Given the description of an element on the screen output the (x, y) to click on. 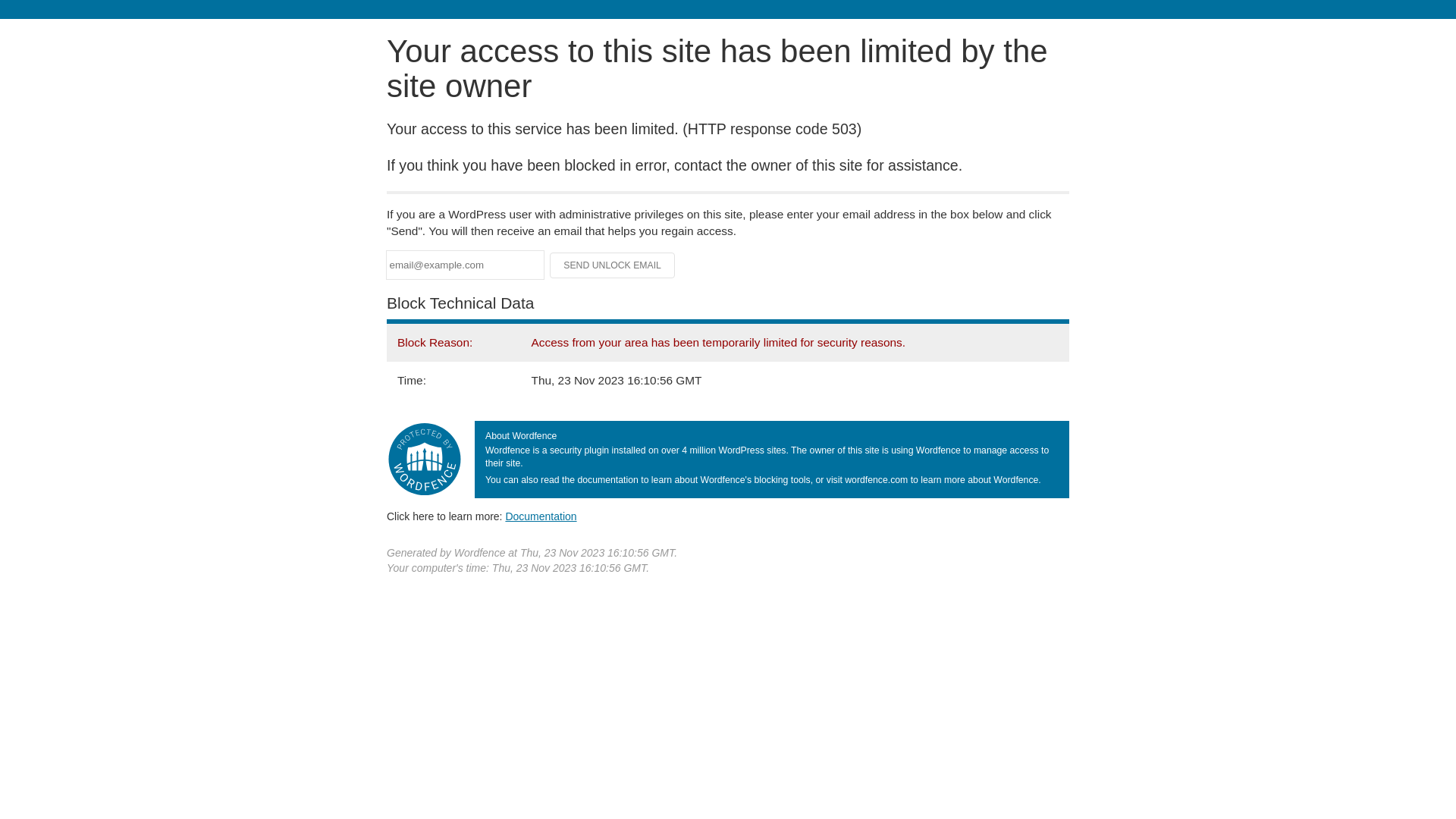
Send Unlock Email Element type: text (612, 265)
Documentation Element type: text (540, 516)
